Given the description of an element on the screen output the (x, y) to click on. 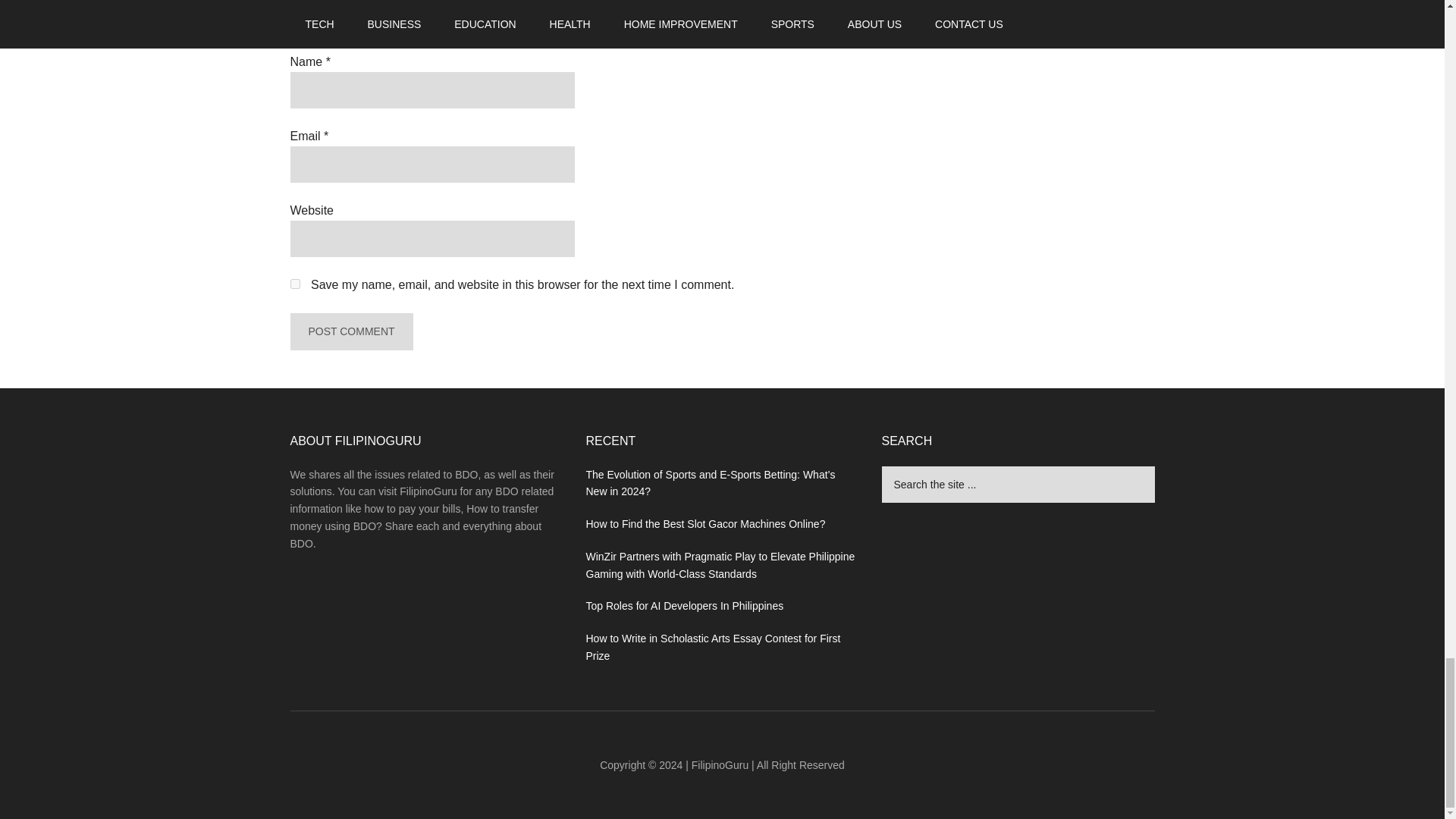
Post Comment (350, 330)
yes (294, 284)
Post Comment (350, 330)
